Given the description of an element on the screen output the (x, y) to click on. 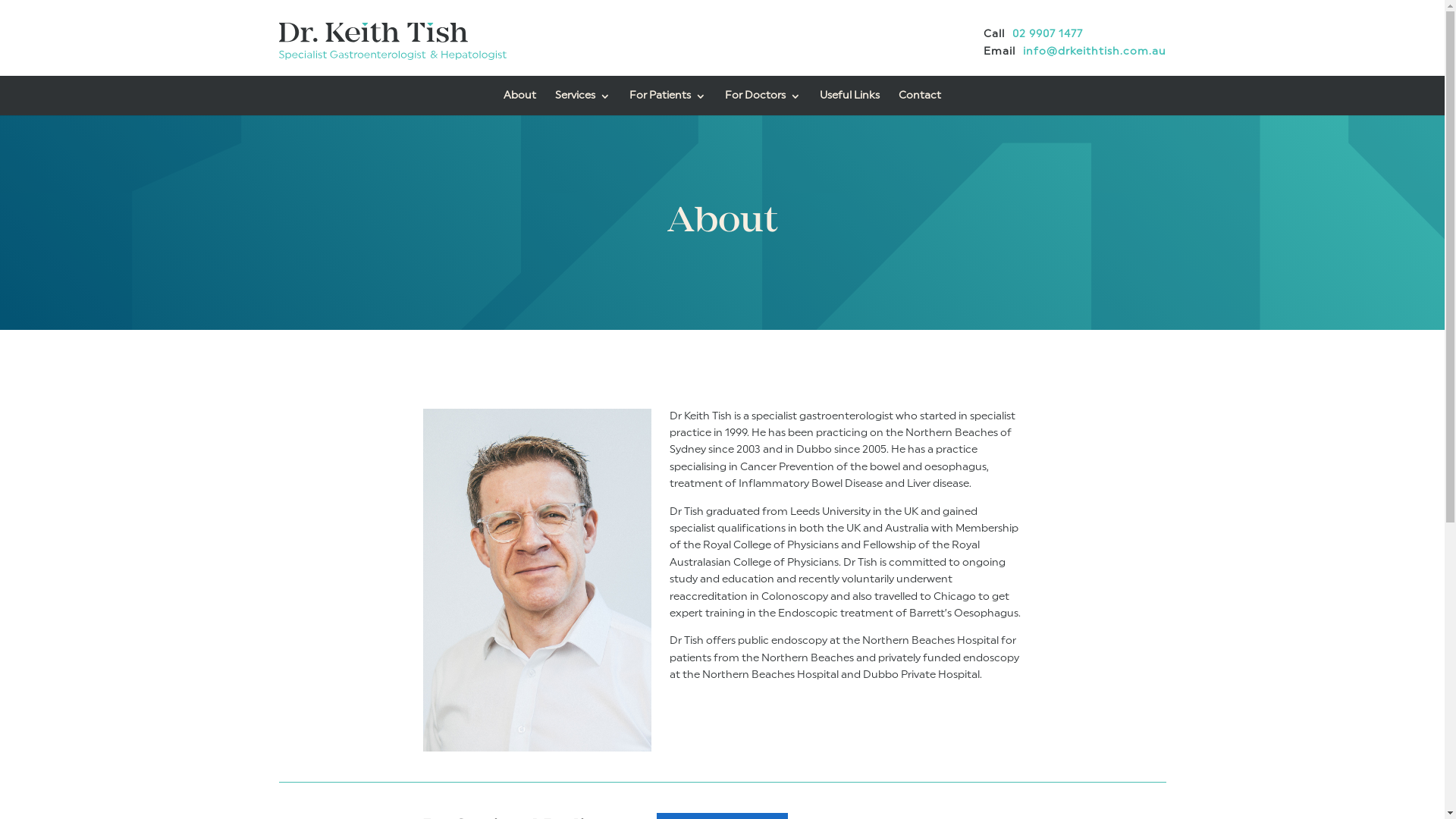
Services Element type: text (582, 103)
02 9907 1477 Element type: text (1043, 38)
For Patients Element type: text (667, 103)
Contact Element type: text (919, 103)
About Element type: text (519, 103)
info@drkeithtish.com.au Element type: text (1089, 55)
For Doctors Element type: text (762, 103)
Useful Links Element type: text (849, 103)
